Given the description of an element on the screen output the (x, y) to click on. 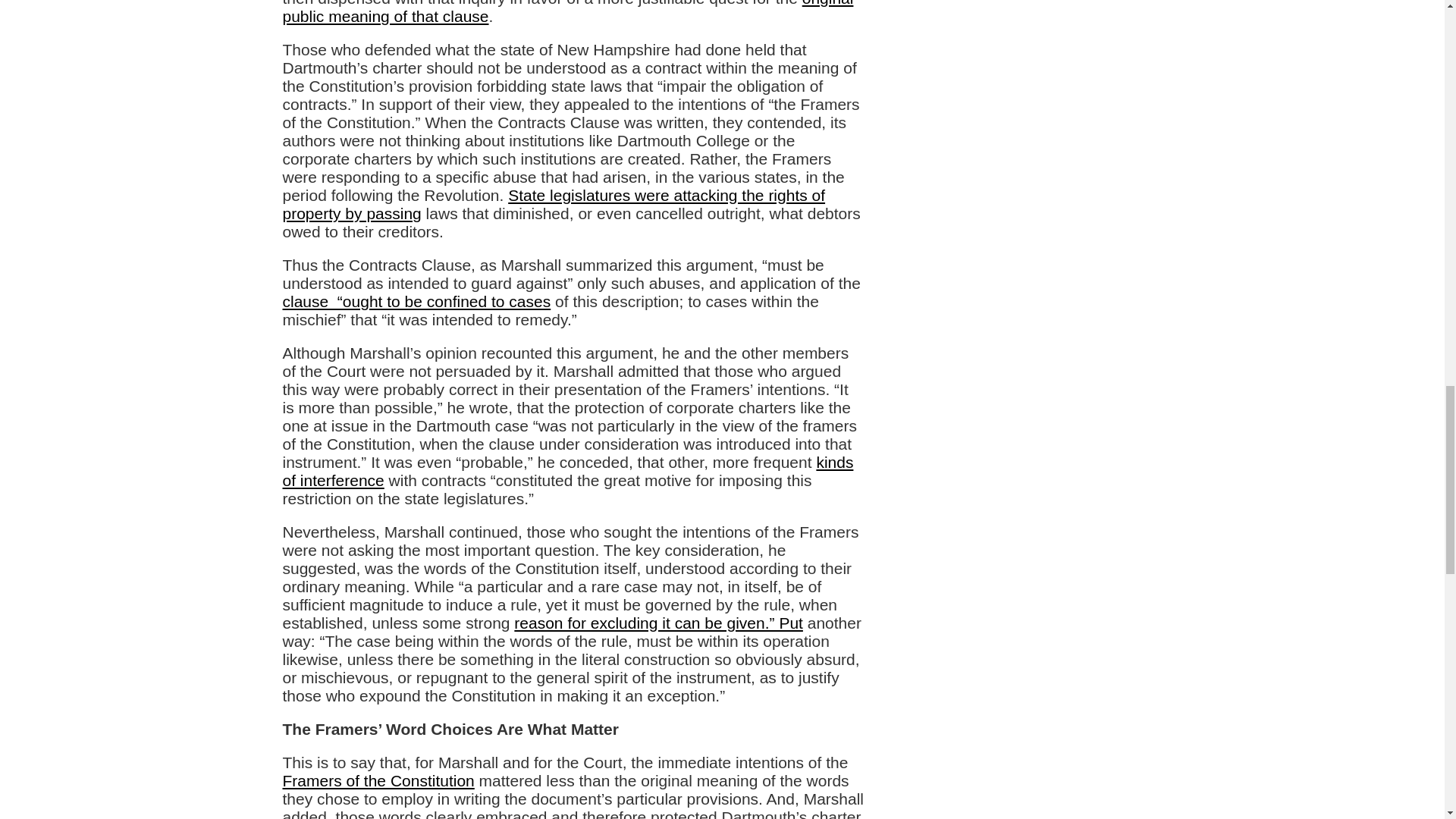
original public meaning of that clause (567, 12)
kinds of interference (567, 470)
